Given the description of an element on the screen output the (x, y) to click on. 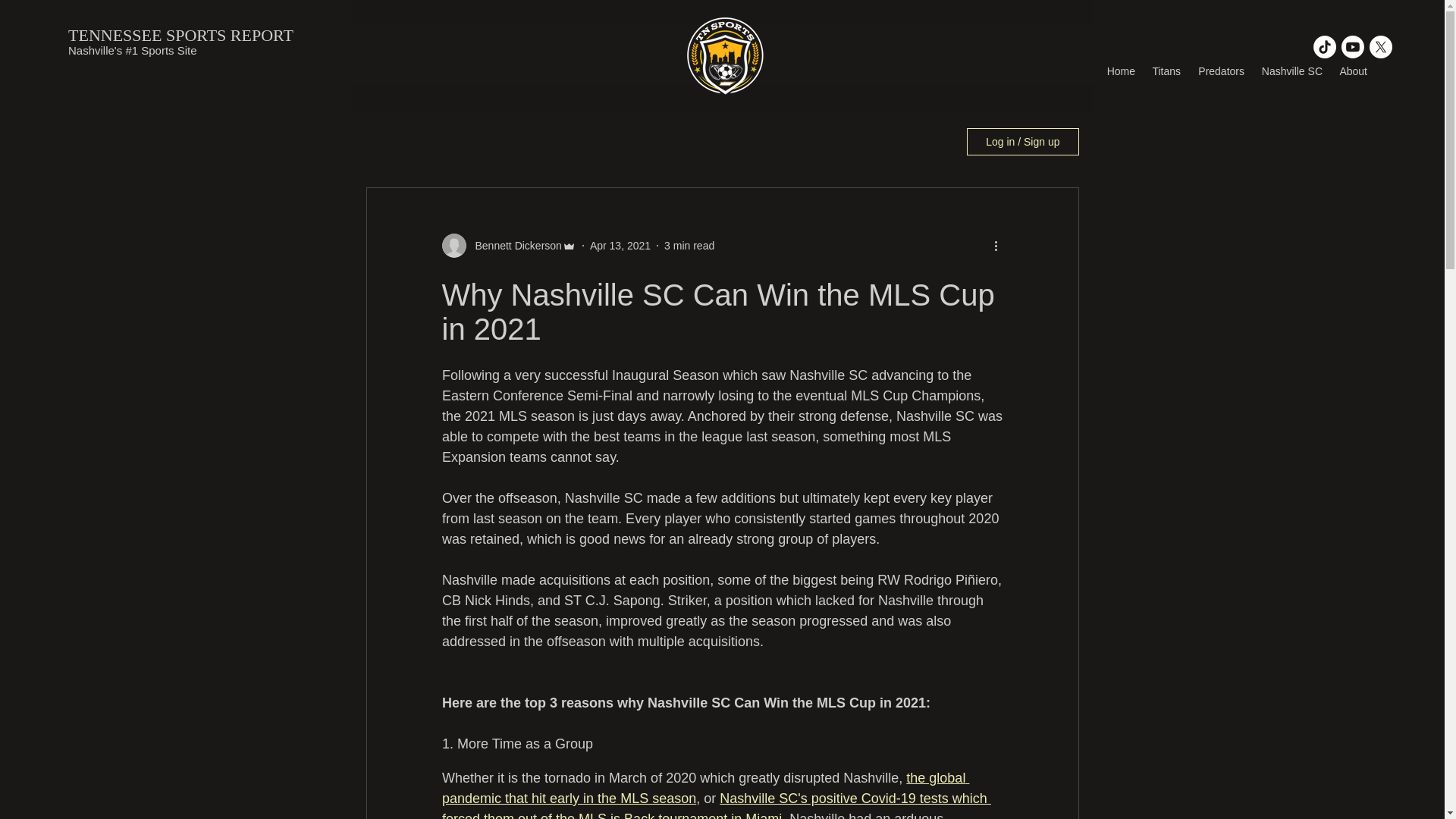
Apr 13, 2021 (619, 245)
About (1352, 71)
Bennett Dickerson (512, 245)
Home (1119, 71)
Bennett Dickerson (508, 245)
Titans (1165, 71)
the global pandemic that hit early in the MLS season (704, 787)
Predators (1220, 71)
Nashville SC (1291, 71)
3 min read (688, 245)
TENNESSEE SPORTS REPORT (181, 35)
